Given the description of an element on the screen output the (x, y) to click on. 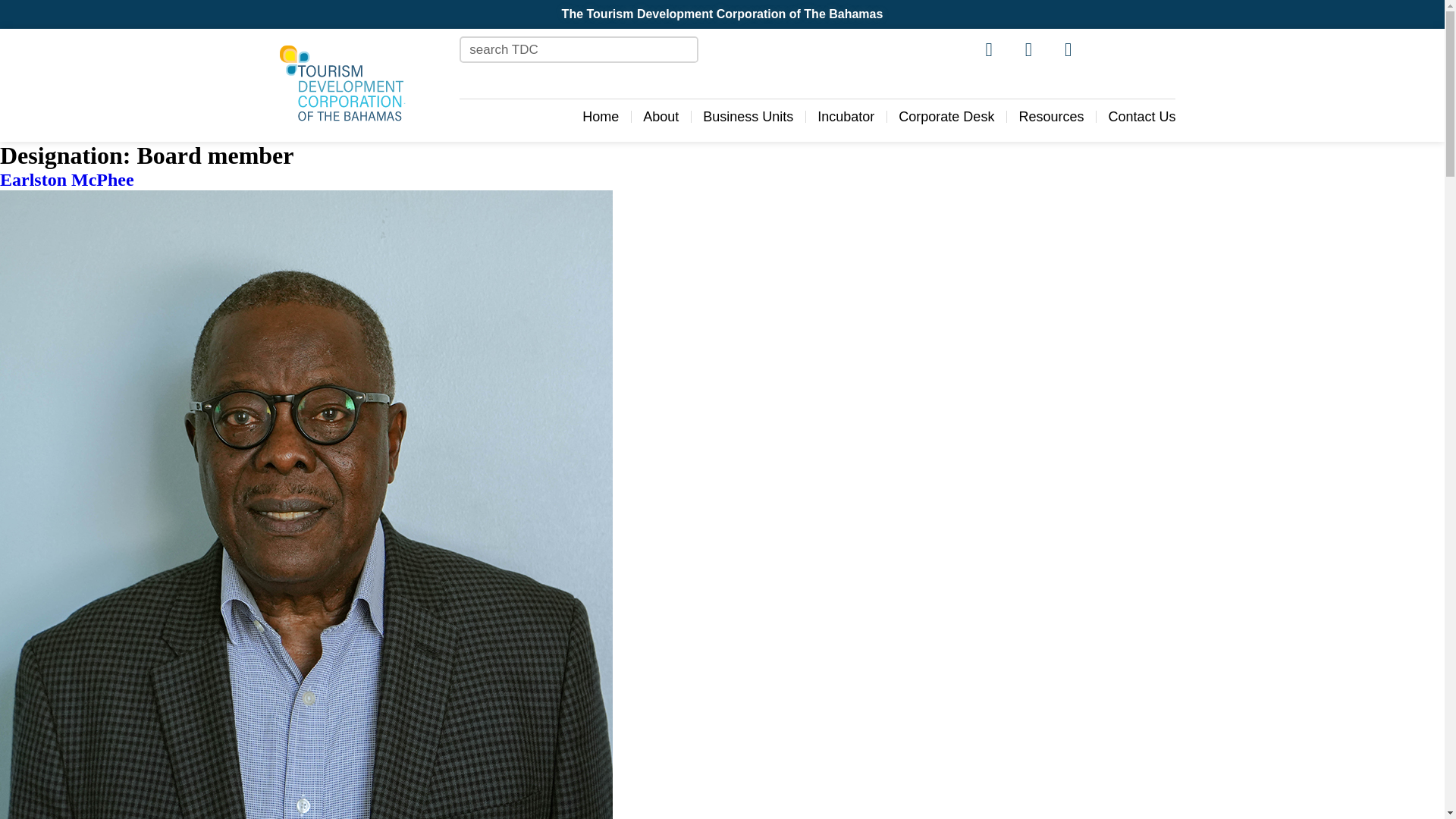
Resources (1050, 116)
Incubator (845, 116)
Business Units (748, 116)
Home (600, 116)
Contact Us (1141, 116)
Corporate Desk (946, 116)
About (660, 116)
